Given the description of an element on the screen output the (x, y) to click on. 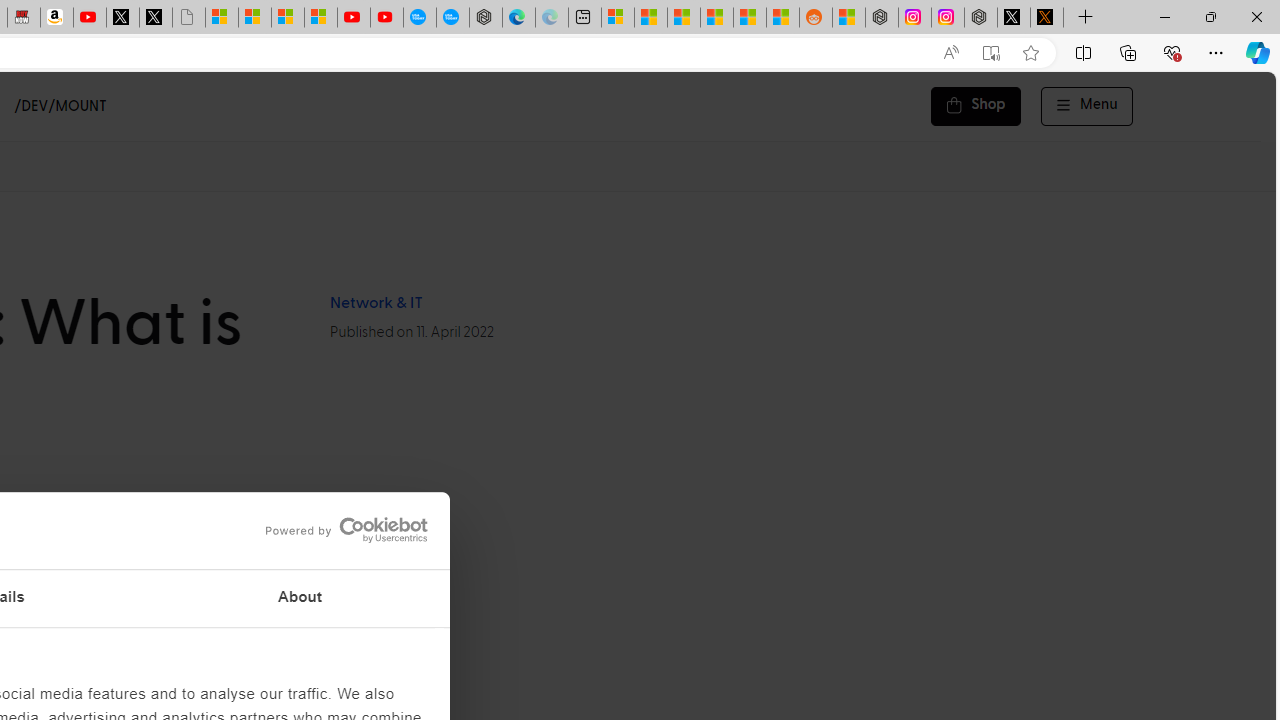
logo - opens in a new window (339, 530)
Enter Immersive Reader (F9) (991, 53)
Network & IT (375, 303)
Menu Off-Canvas (1087, 106)
Shanghai, China hourly forecast | Microsoft Weather (684, 17)
